Given the description of an element on the screen output the (x, y) to click on. 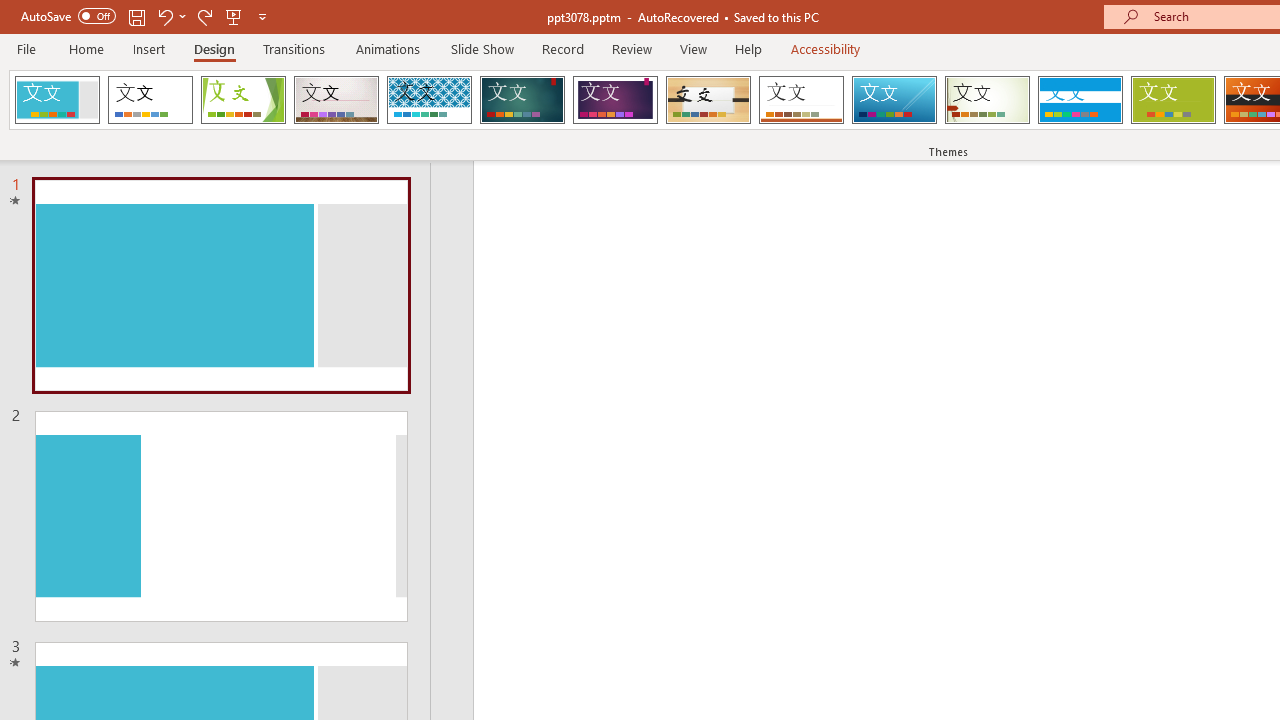
Wisp (987, 100)
Banded (1080, 100)
Office Theme (150, 100)
Organic (708, 100)
Ion Boardroom (615, 100)
Integral (429, 100)
